Given the description of an element on the screen output the (x, y) to click on. 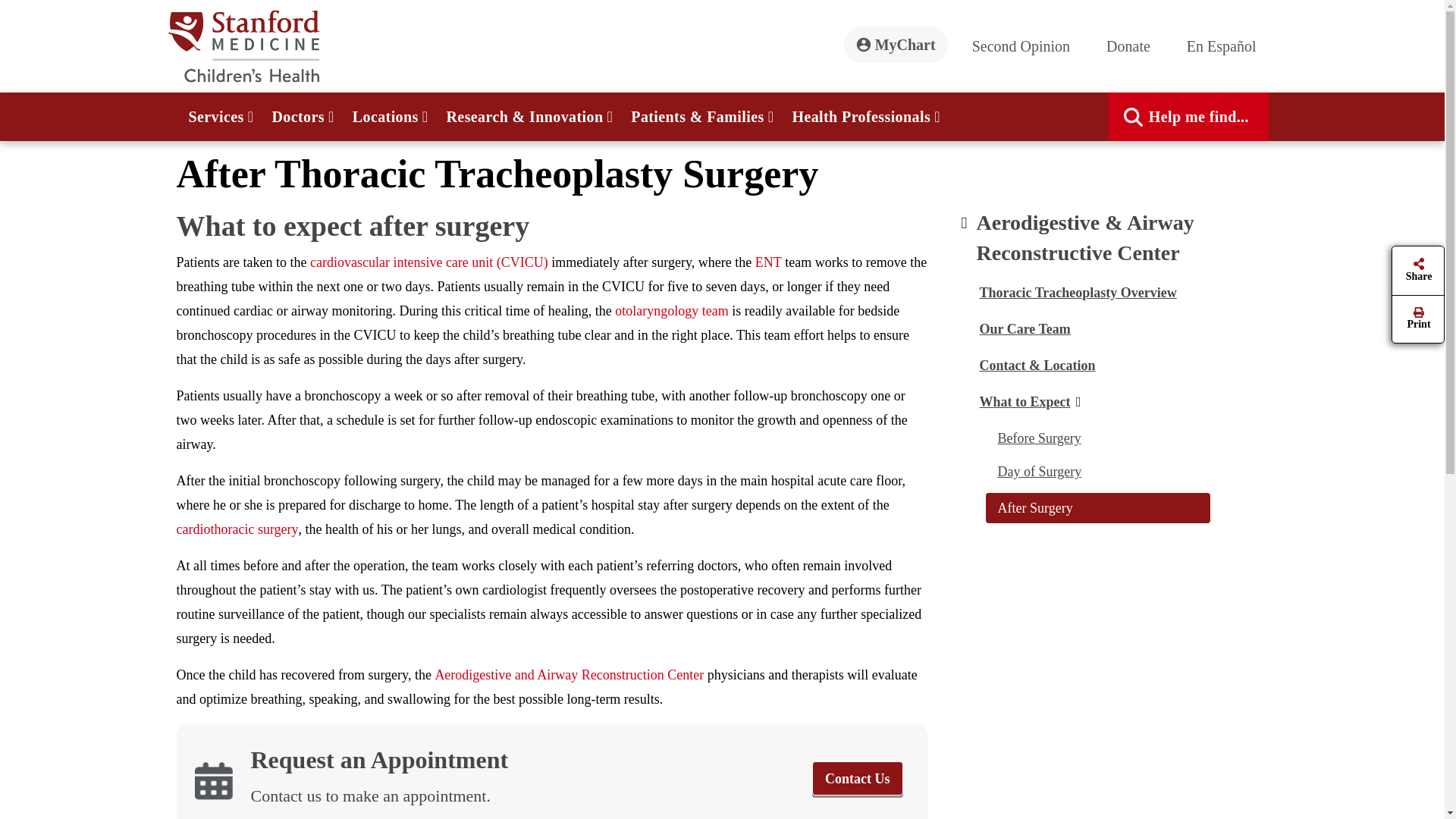
MyChart (895, 44)
Second Opinion (1026, 46)
Donate (1133, 46)
